Given the description of an element on the screen output the (x, y) to click on. 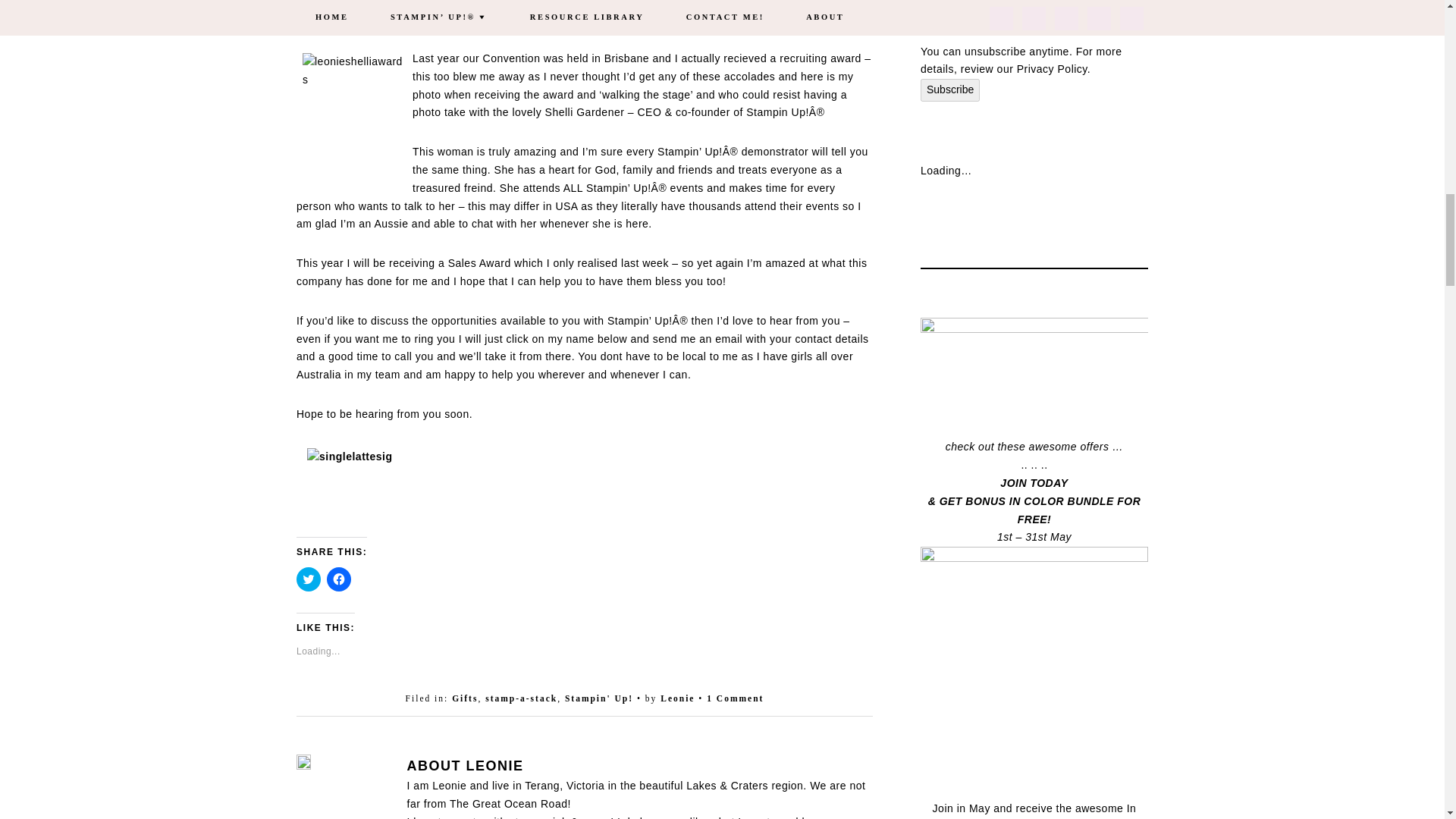
stamp-a-stack (520, 697)
Gifts (464, 697)
Leonie (677, 697)
singlelattesig (360, 490)
1 Comment (734, 697)
Click to share on Facebook (338, 579)
Click to share on Twitter (308, 579)
Stampin' Up! (598, 697)
